Given the description of an element on the screen output the (x, y) to click on. 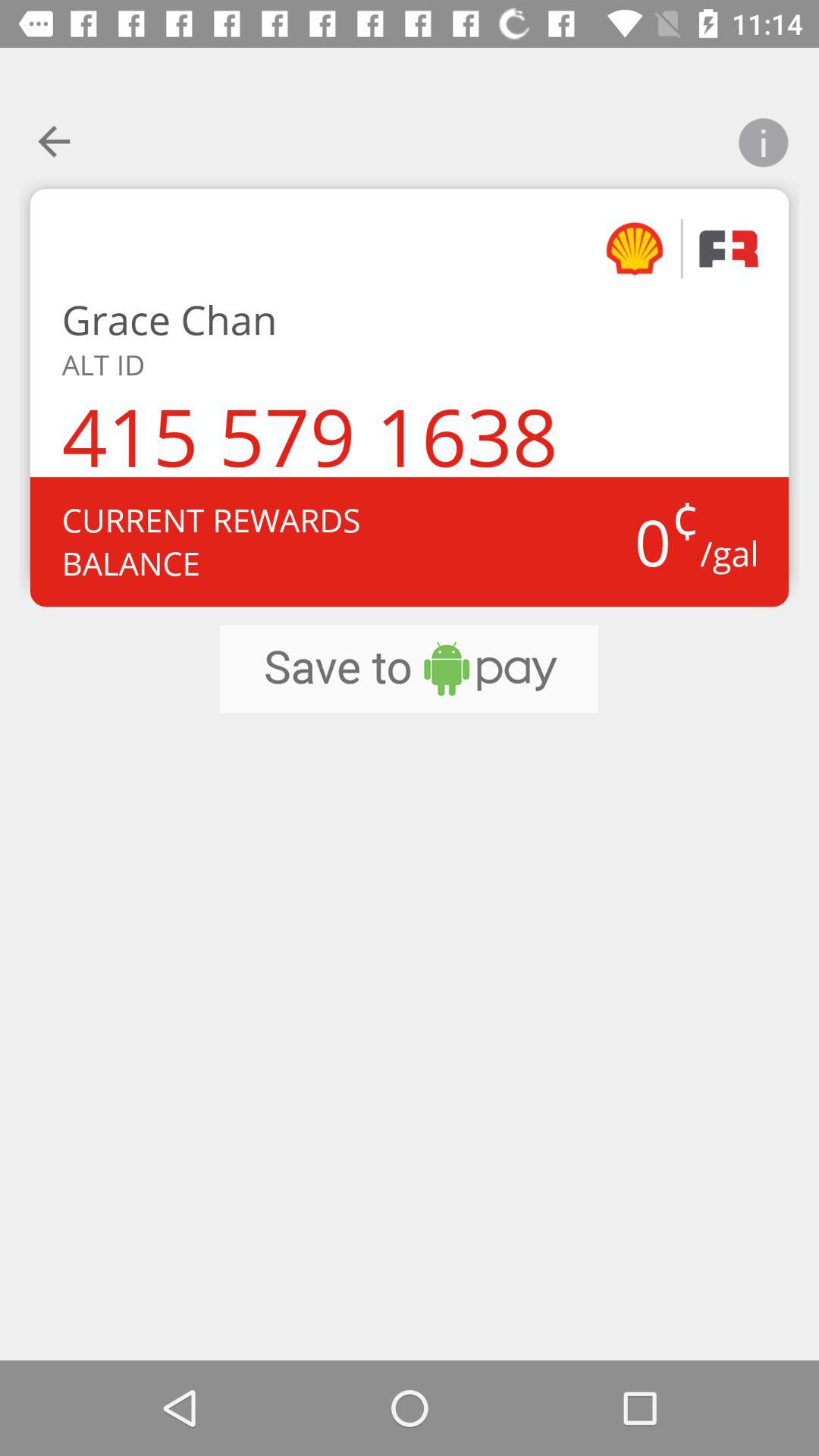
tooltip (763, 132)
